Given the description of an element on the screen output the (x, y) to click on. 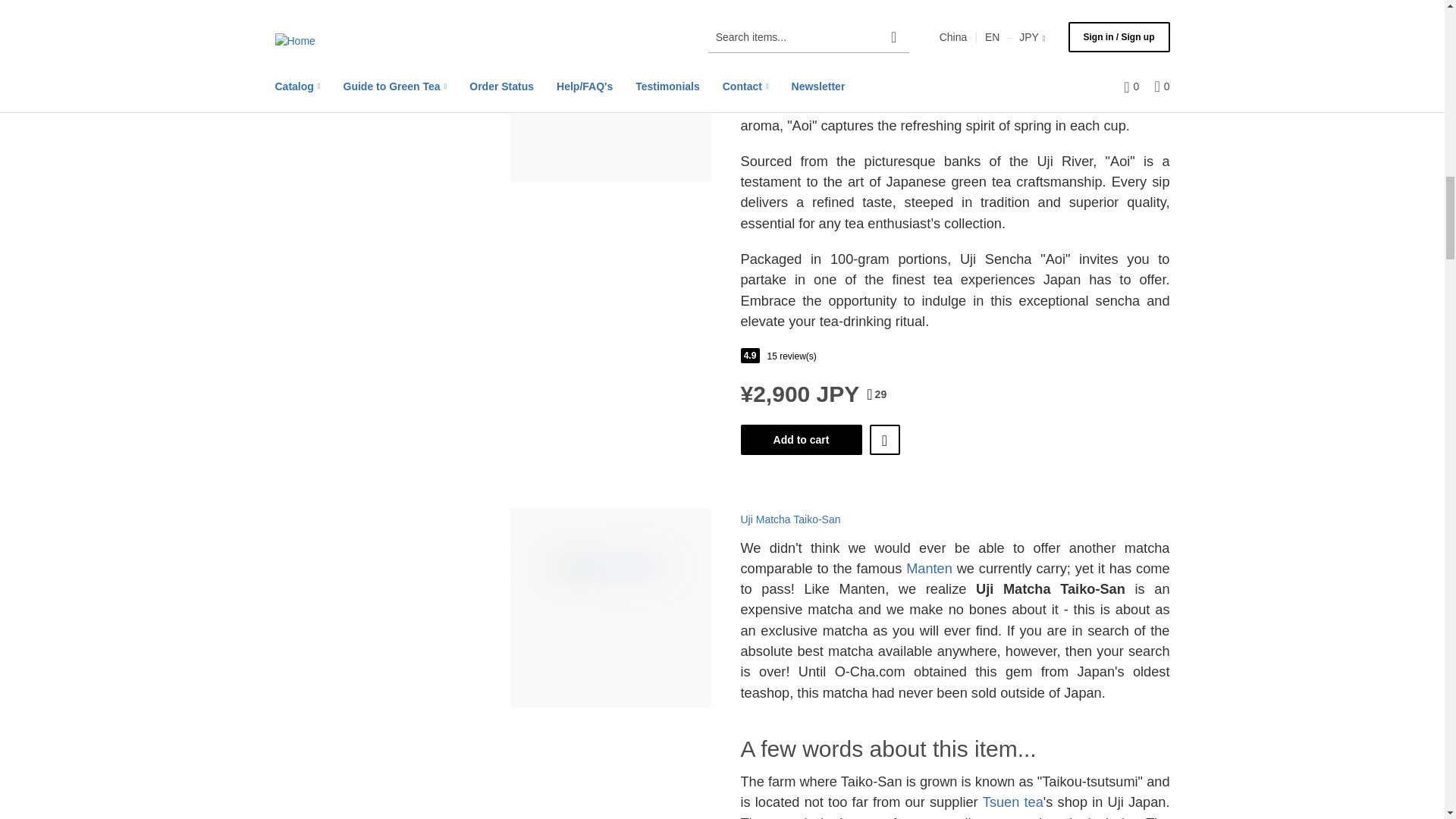
Tsuen Green Tea (1012, 801)
uji matcha manten (928, 568)
Buy this product and earn up to 29 reward points. (876, 394)
